Given the description of an element on the screen output the (x, y) to click on. 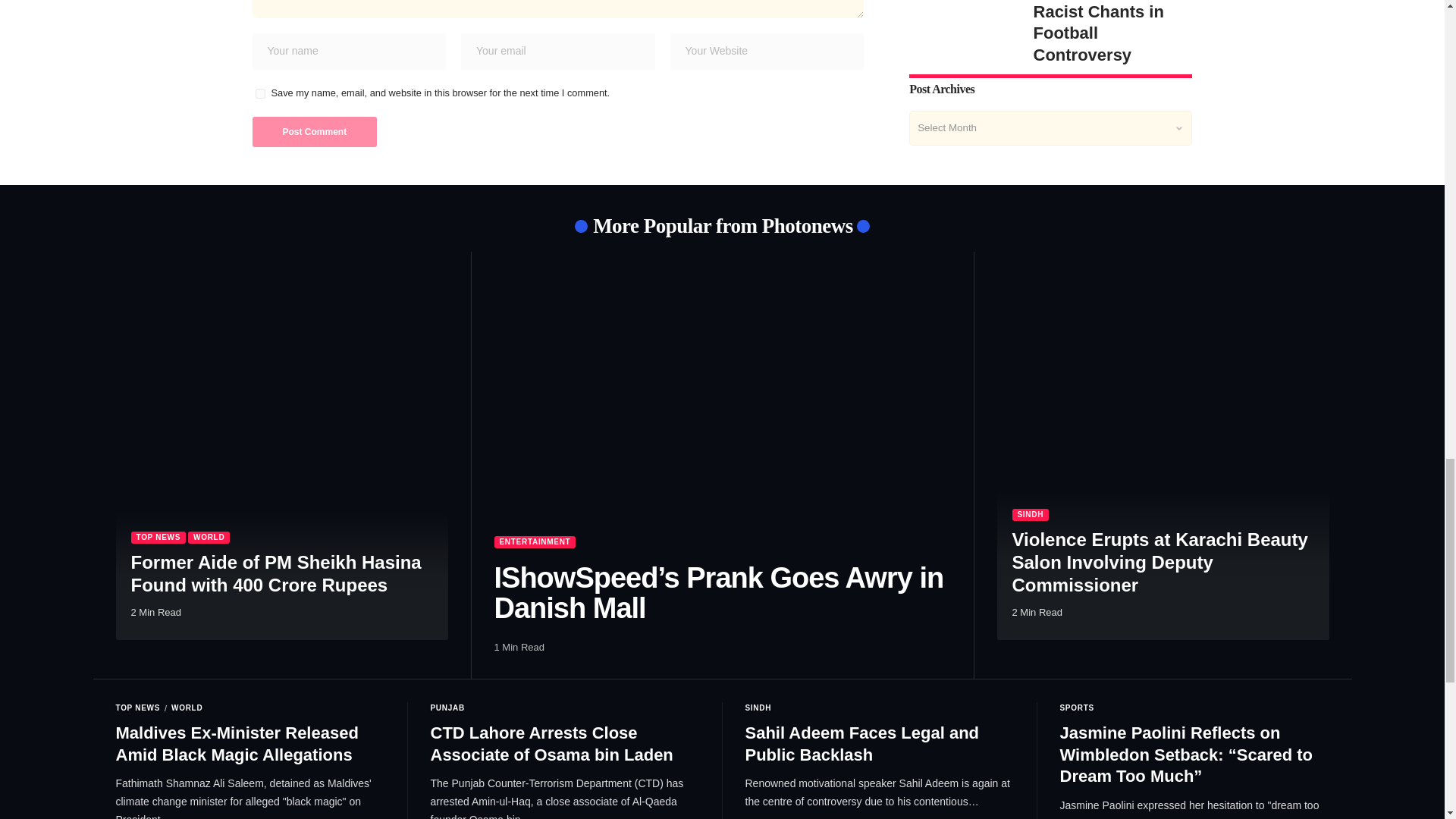
Post Comment (314, 132)
yes (259, 93)
Former Aide of PM Sheikh Hasina Found with 400 Crore Rupees (280, 456)
